Given the description of an element on the screen output the (x, y) to click on. 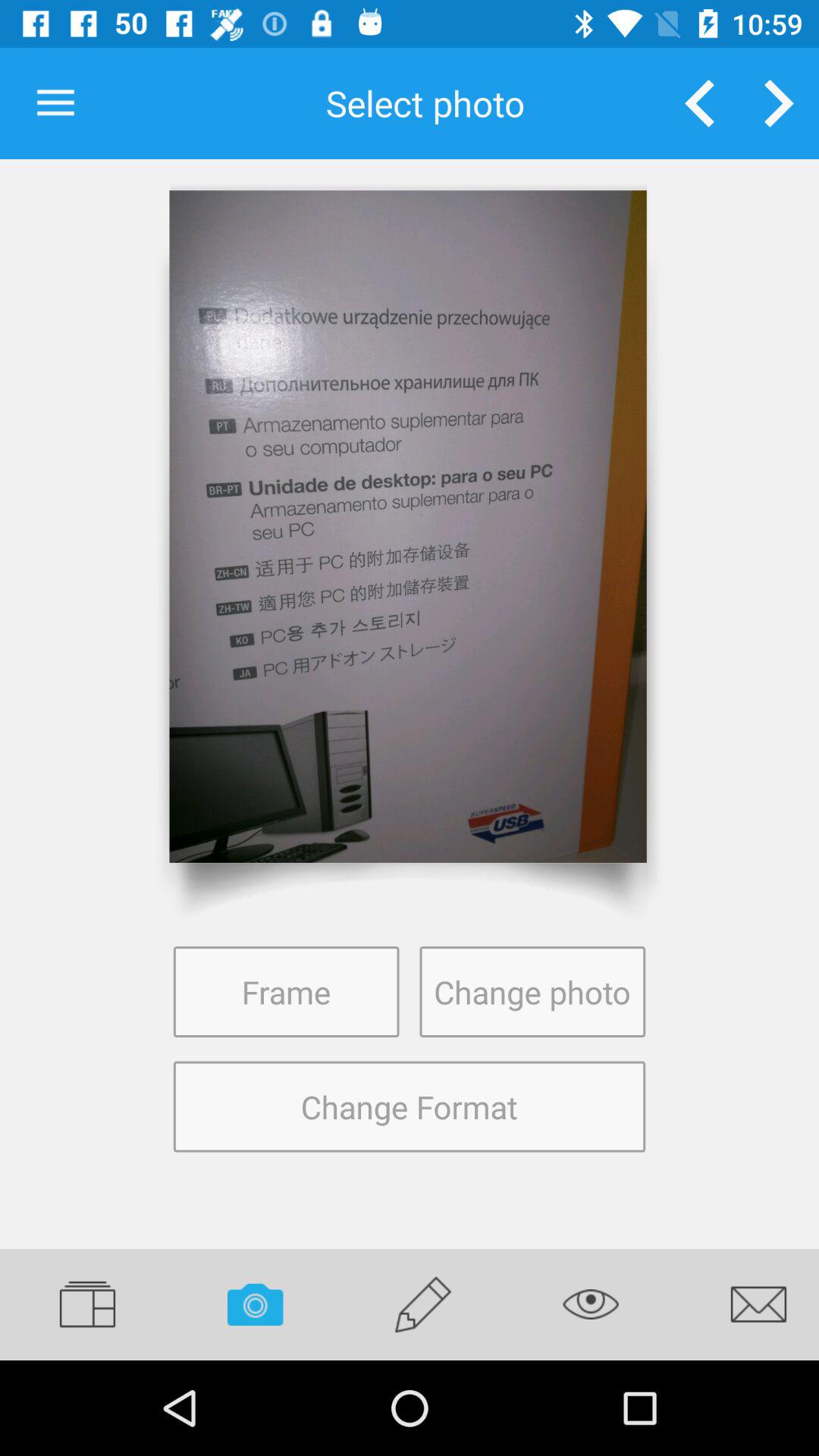
open item to the left of the select photo item (55, 103)
